Given the description of an element on the screen output the (x, y) to click on. 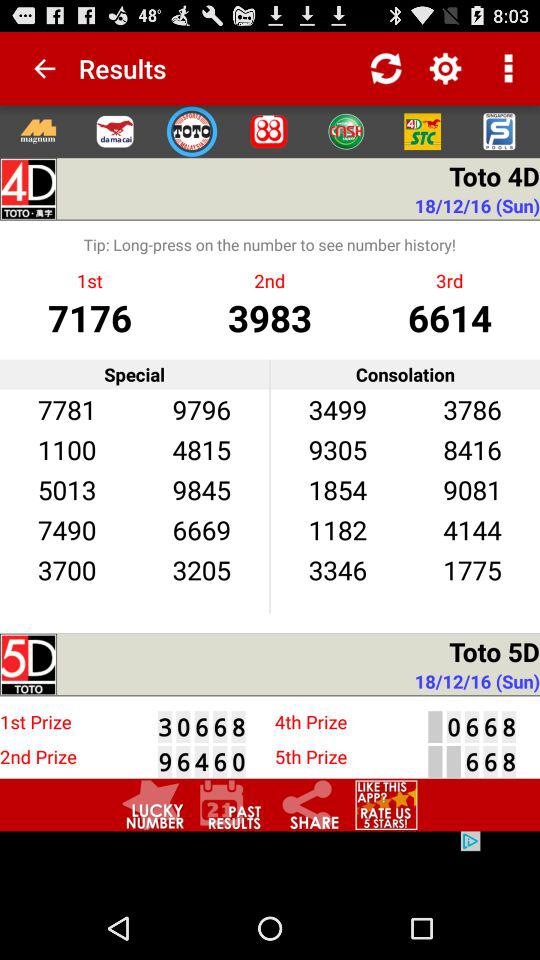
launch the 7781 (66, 408)
